Given the description of an element on the screen output the (x, y) to click on. 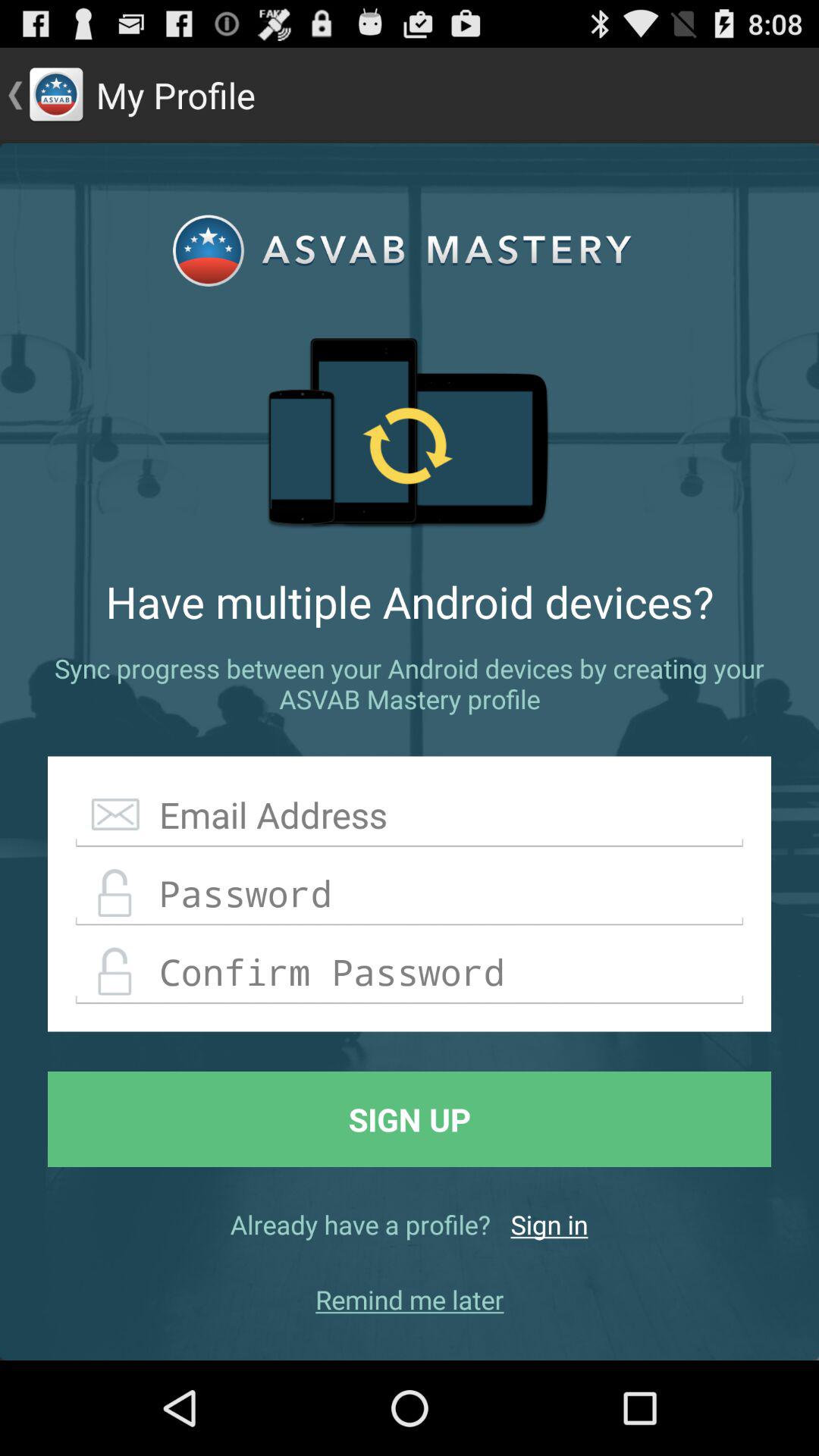
press item next to already have a app (549, 1224)
